Given the description of an element on the screen output the (x, y) to click on. 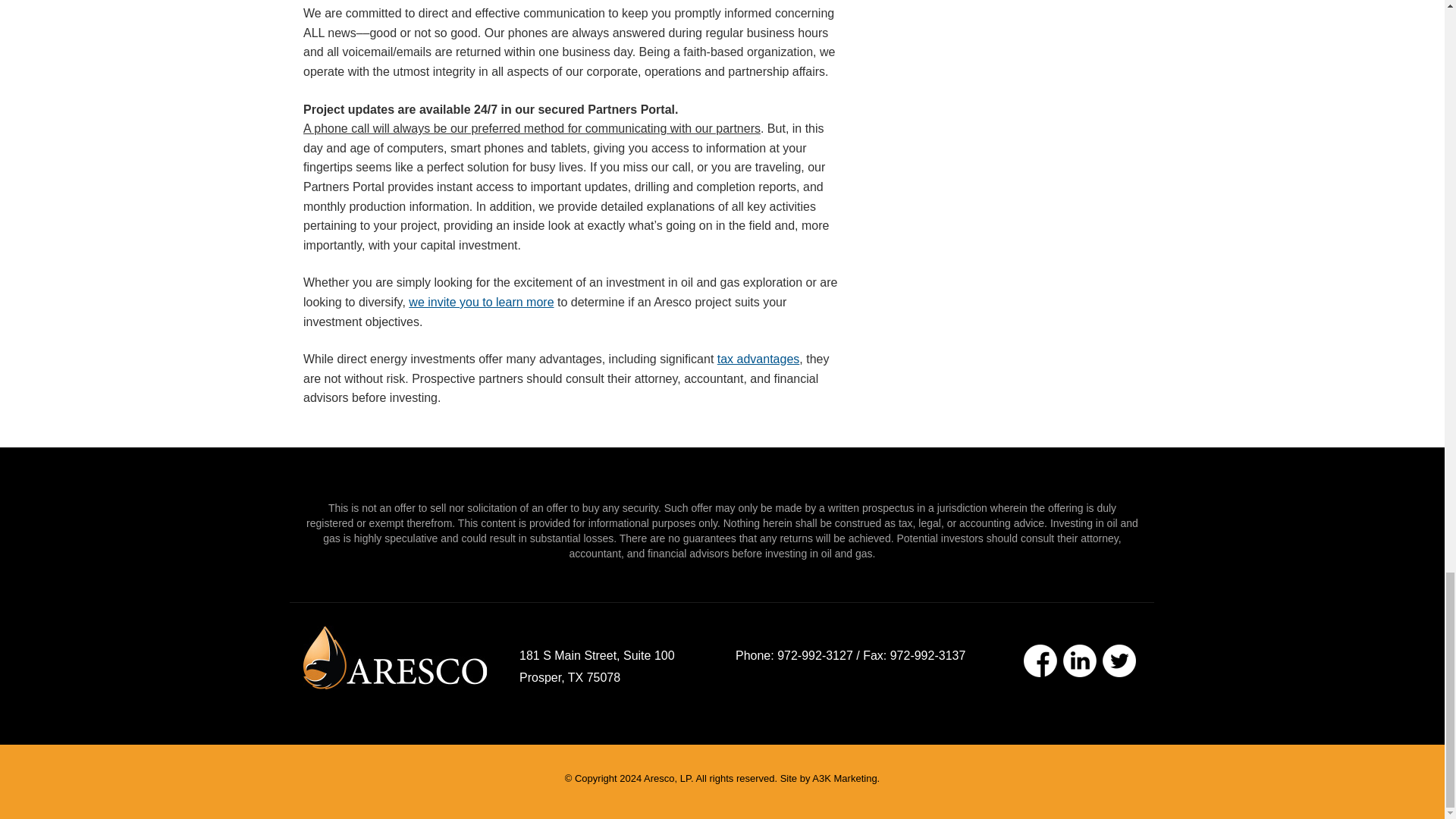
A3K Marketing. (845, 778)
tax advantages (758, 358)
we invite you to learn more (481, 301)
